Given the description of an element on the screen output the (x, y) to click on. 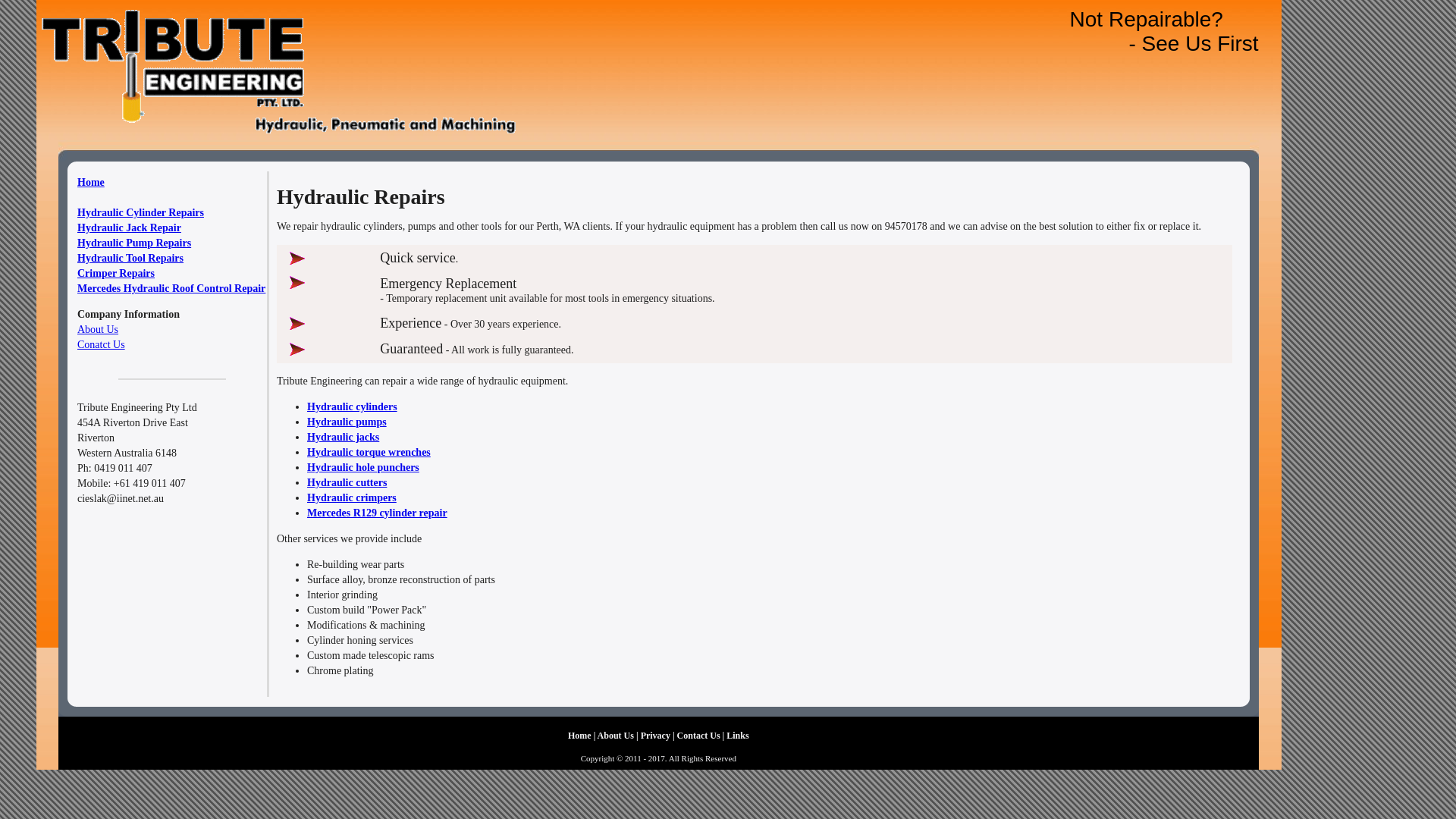
Contact Us Element type: text (698, 734)
Hydraulic pumps Element type: text (346, 420)
Home Element type: text (90, 182)
Hydraulic cutters Element type: text (346, 481)
Hydraulic Pump Repairs Element type: text (134, 242)
Hydraulic Jack Repair Element type: text (129, 227)
Conatct Us Element type: text (101, 344)
Hydraulic jacks Element type: text (343, 436)
Hydraulic crimpers Element type: text (351, 496)
About Us Element type: text (97, 329)
Crimper Repairs Element type: text (115, 273)
About Us Element type: text (615, 734)
Links Element type: text (737, 734)
Hydraulic Cylinder Repairs Element type: text (140, 212)
Hydraulic Tool Repairs Element type: text (130, 257)
Home Element type: text (579, 734)
Privacy Element type: text (655, 734)
Hydraulic torque wrenches Element type: text (368, 451)
Hydraulic hole punchers Element type: text (363, 466)
Hydraulic cylinders Element type: text (352, 405)
Mercedes Hydraulic Roof Control Repair Element type: text (171, 288)
Mercedes R129 cylinder repair Element type: text (377, 511)
